Given the description of an element on the screen output the (x, y) to click on. 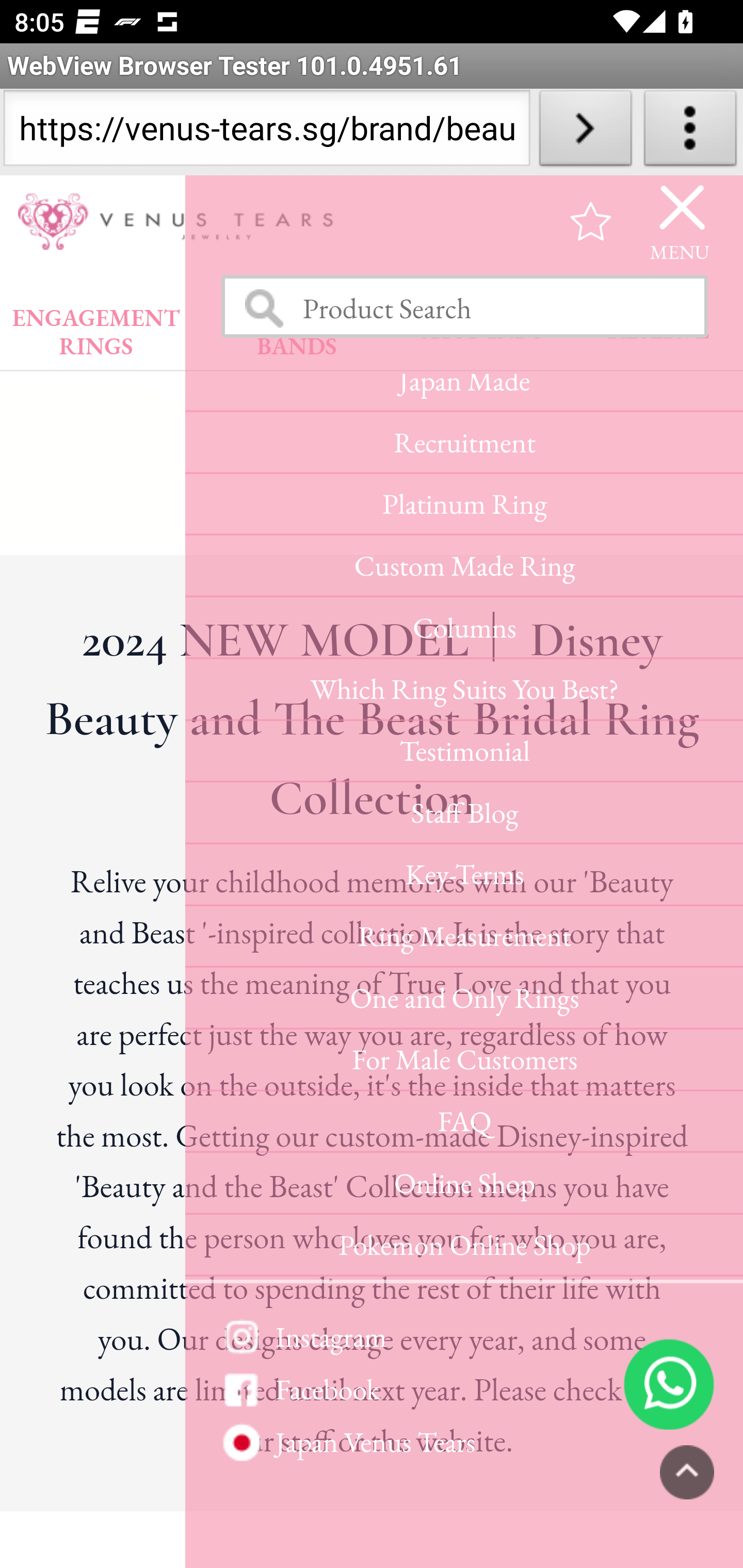
Load URL (585, 132)
About WebView (690, 132)
favourite (591, 223)
MENU (680, 223)
Japan Made (463, 394)
Recruitment (463, 444)
Platinum Ring (463, 506)
Custom Made Ring (463, 569)
Columns (463, 630)
Which Ring Suits You Best? (463, 691)
Testimonial (463, 753)
Staff Blog (463, 815)
Key-Terms (463, 876)
Ring Measurement (463, 938)
One and Only Rings (463, 1000)
For Male Customers (463, 1061)
FAQ (463, 1123)
Online Shop (463, 1185)
Pokemon Online Shop (463, 1246)
Instagram (463, 1337)
6585184875 (668, 1385)
Facebook (463, 1390)
Japan Venus Tears (463, 1442)
PAGETOP (686, 1473)
